Given the description of an element on the screen output the (x, y) to click on. 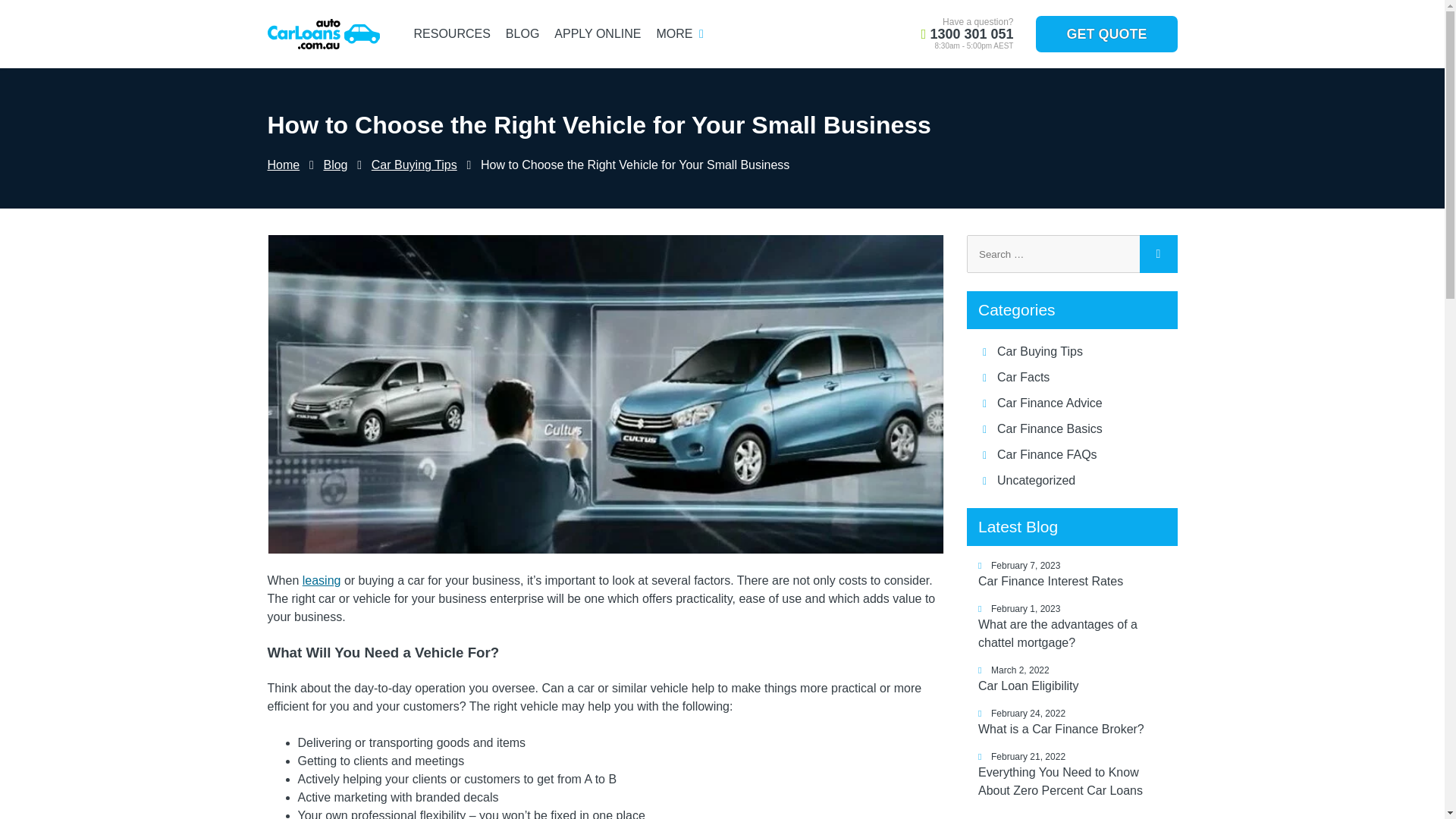
leasing (321, 580)
Uncategorized (1036, 480)
RESOURCES (451, 33)
APPLY ONLINE (597, 33)
GET QUOTE (1105, 33)
Everything You Need to Know About Zero Percent Car Loans (1072, 781)
Car Finance Advice (1049, 402)
Blog (335, 164)
Car Buying Tips (1040, 350)
Home (282, 164)
